Given the description of an element on the screen output the (x, y) to click on. 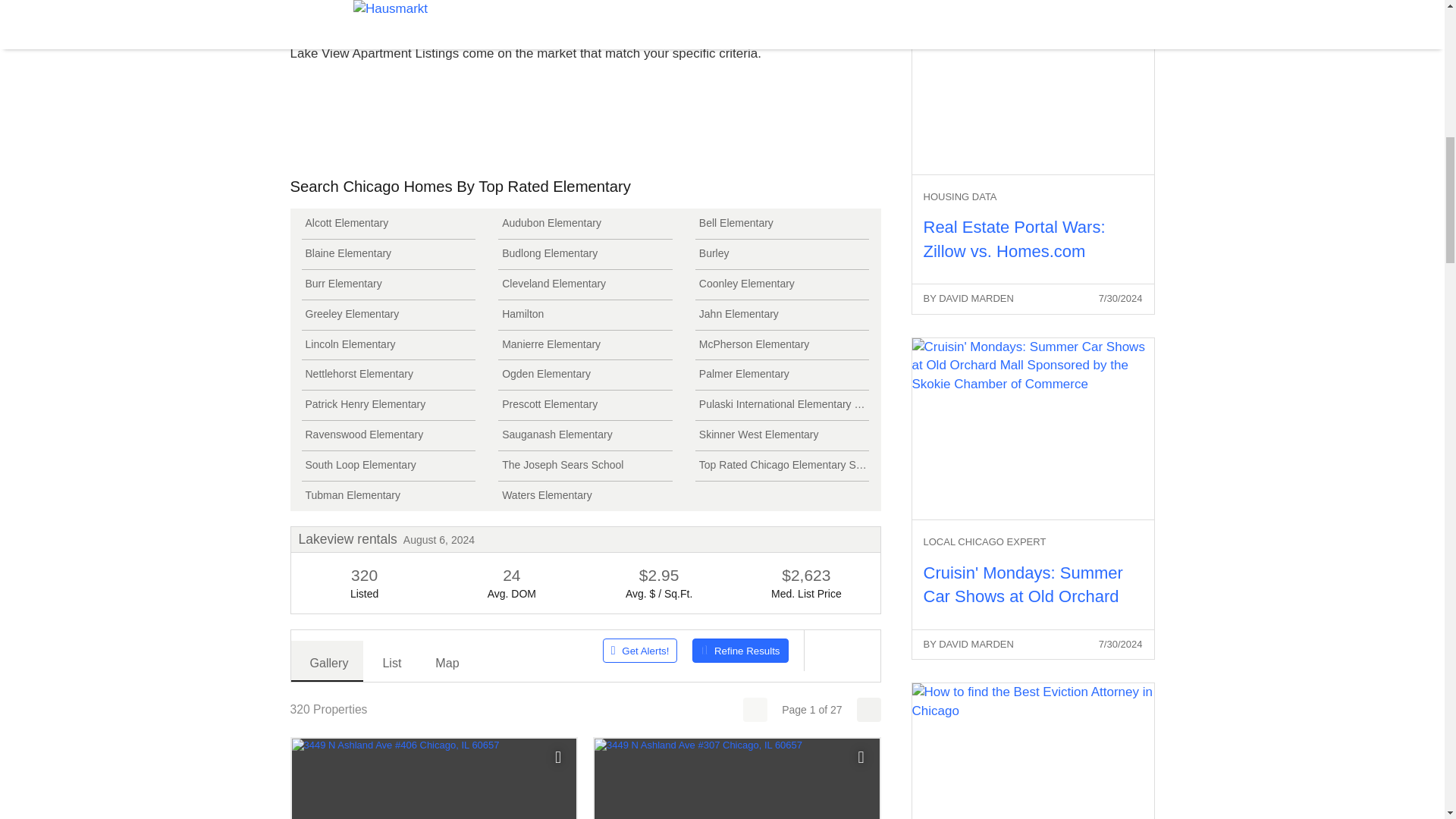
View Blaine Elementary (388, 254)
View Budlong Elementary (584, 254)
View Alcott Elementary (388, 223)
View Burr Elementary (388, 284)
View Audubon Elementary (584, 223)
View Burley (782, 254)
View Cleveland Elementary (584, 284)
View Bell Elementary  (782, 223)
